Given the description of an element on the screen output the (x, y) to click on. 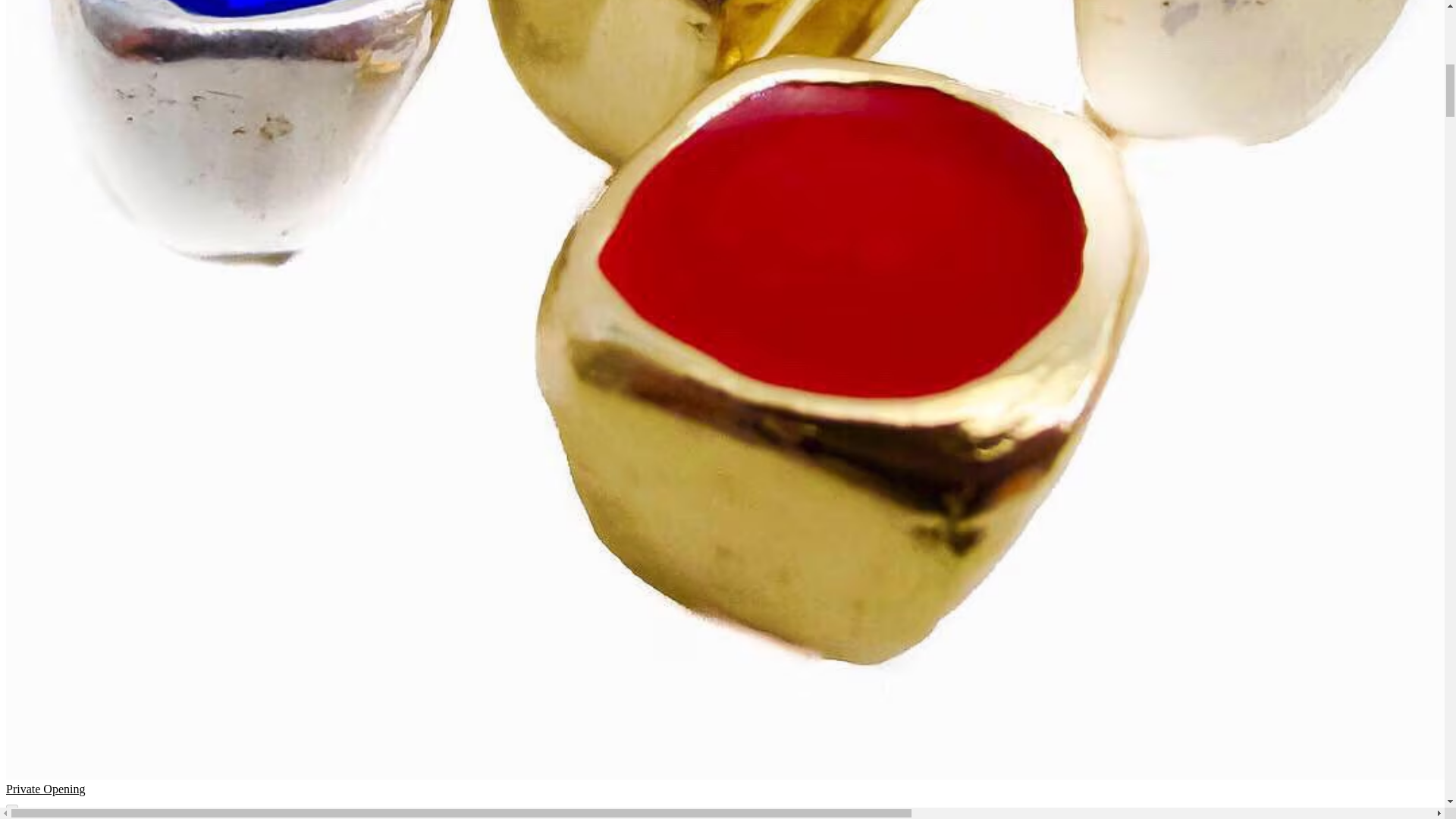
0 (14, 814)
